Given the description of an element on the screen output the (x, y) to click on. 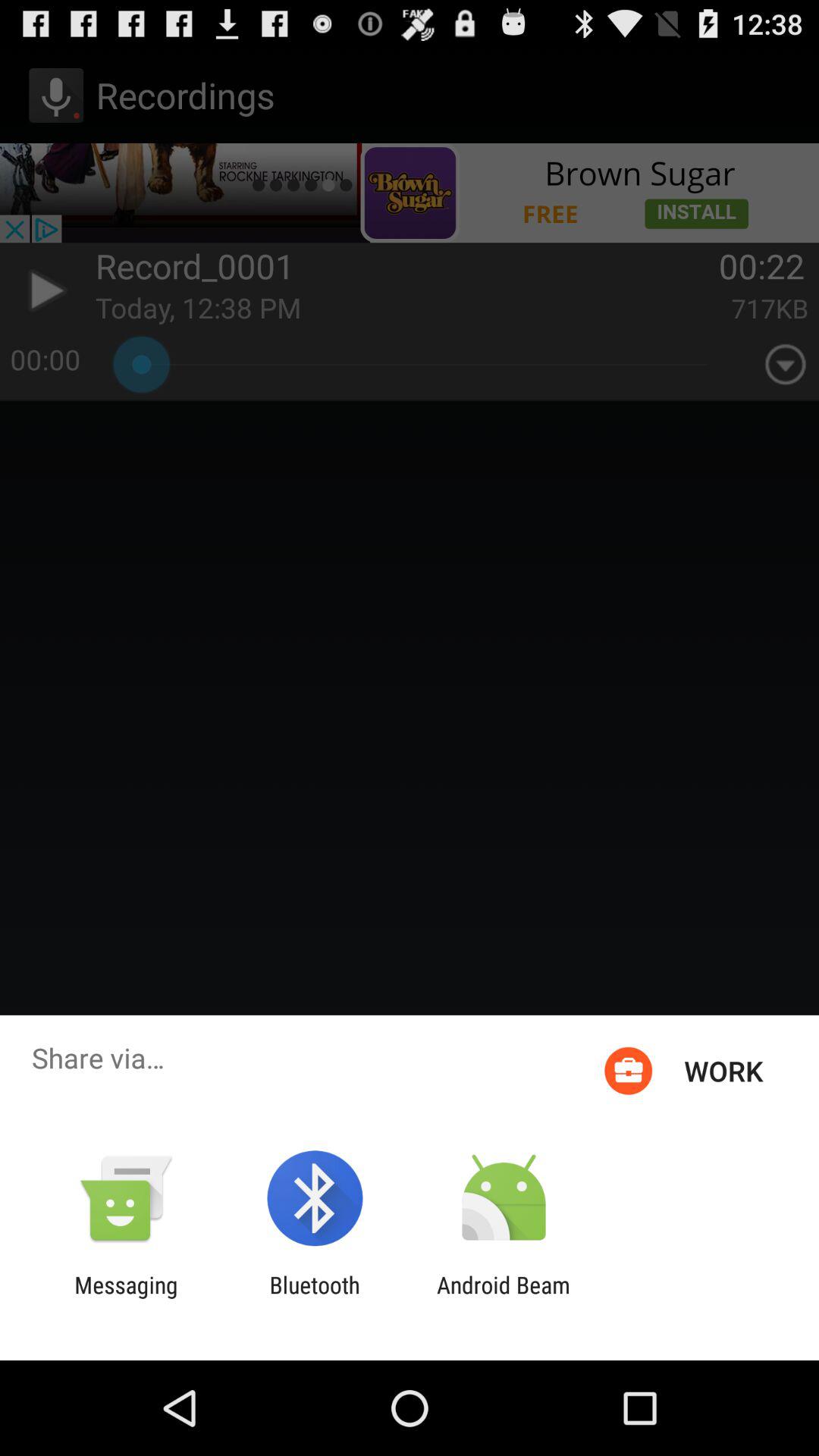
tap item next to android beam item (314, 1298)
